Given the description of an element on the screen output the (x, y) to click on. 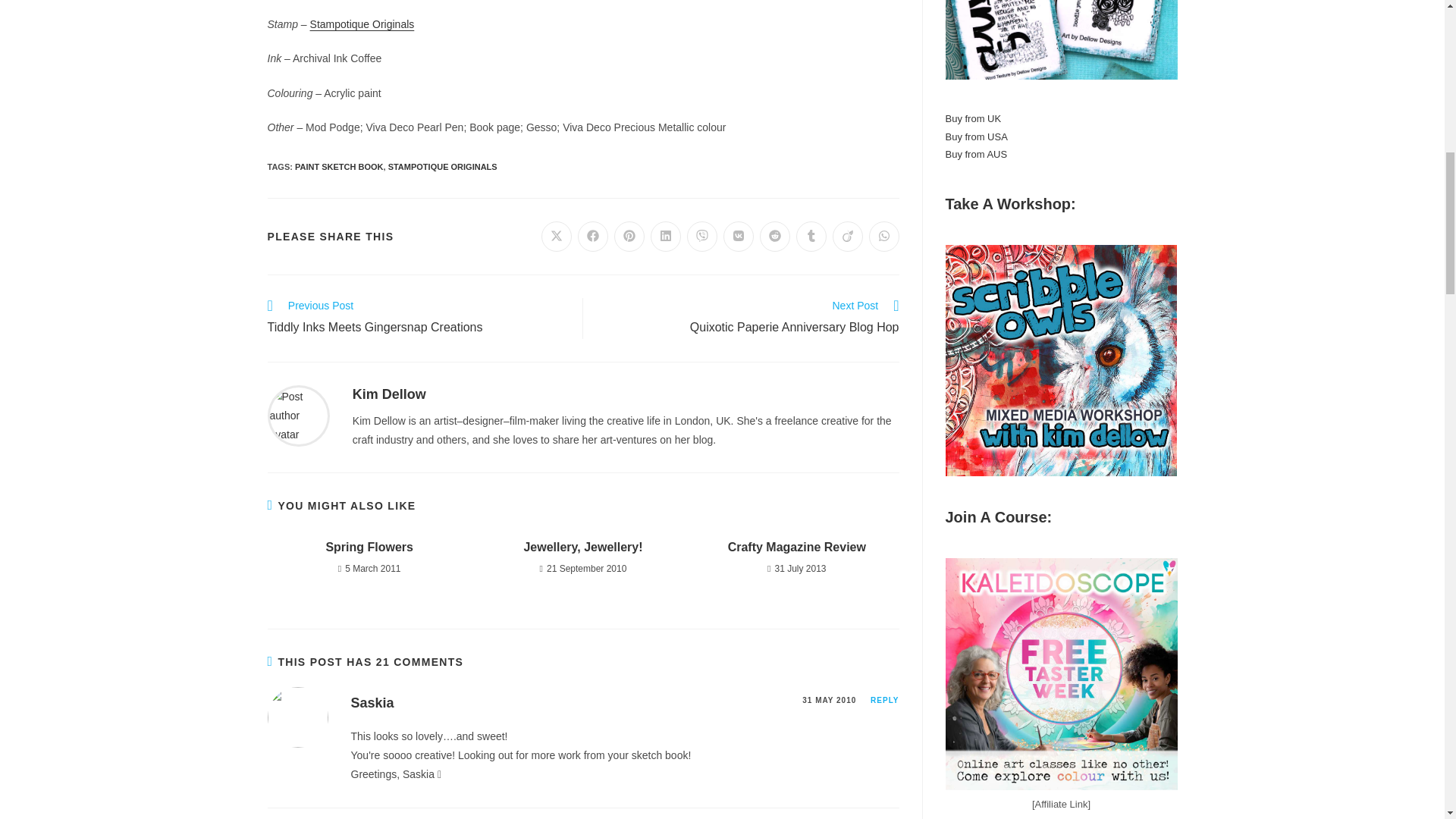
STAMPOTIQUE ORIGINALS (442, 166)
Stampotique Originals (362, 24)
Visit author page (297, 414)
Opens in a new window (629, 236)
Opens in a new window (556, 236)
Opens in a new window (738, 236)
PAINT SKETCH BOOK (339, 166)
Opens in a new window (665, 236)
Visit author page (389, 394)
Opens in a new window (775, 236)
Opens in a new window (593, 236)
Opens in a new window (702, 236)
